Given the description of an element on the screen output the (x, y) to click on. 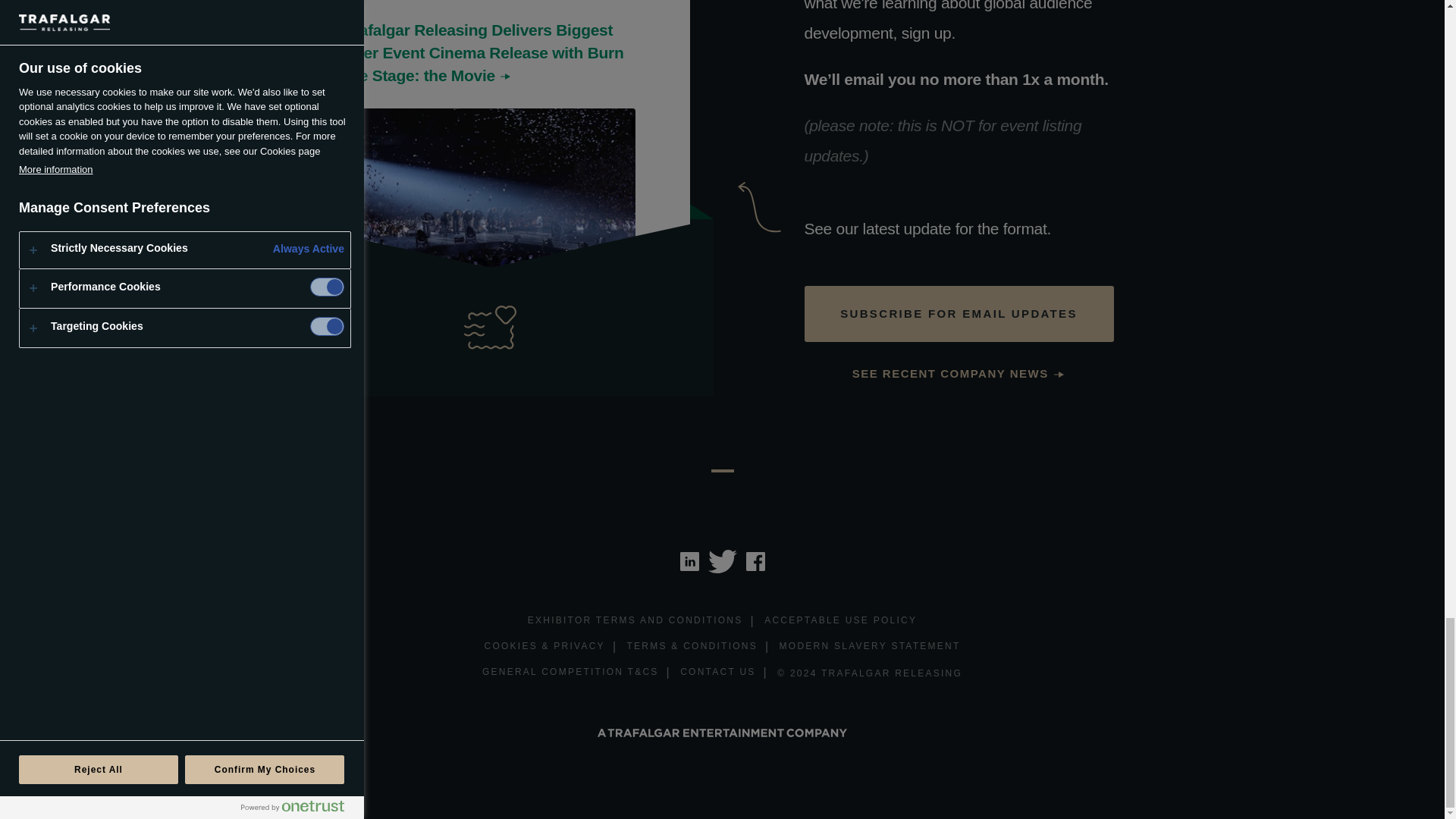
CONTACT US (717, 672)
ACCEPTABLE USE POLICY (840, 621)
SUBSCRIBE FOR EMAIL UPDATES (958, 313)
MODERN SLAVERY STATEMENT (869, 647)
SEE RECENT COMPANY NEWS (958, 374)
EXHIBITOR TERMS AND CONDITIONS (634, 621)
